Given the description of an element on the screen output the (x, y) to click on. 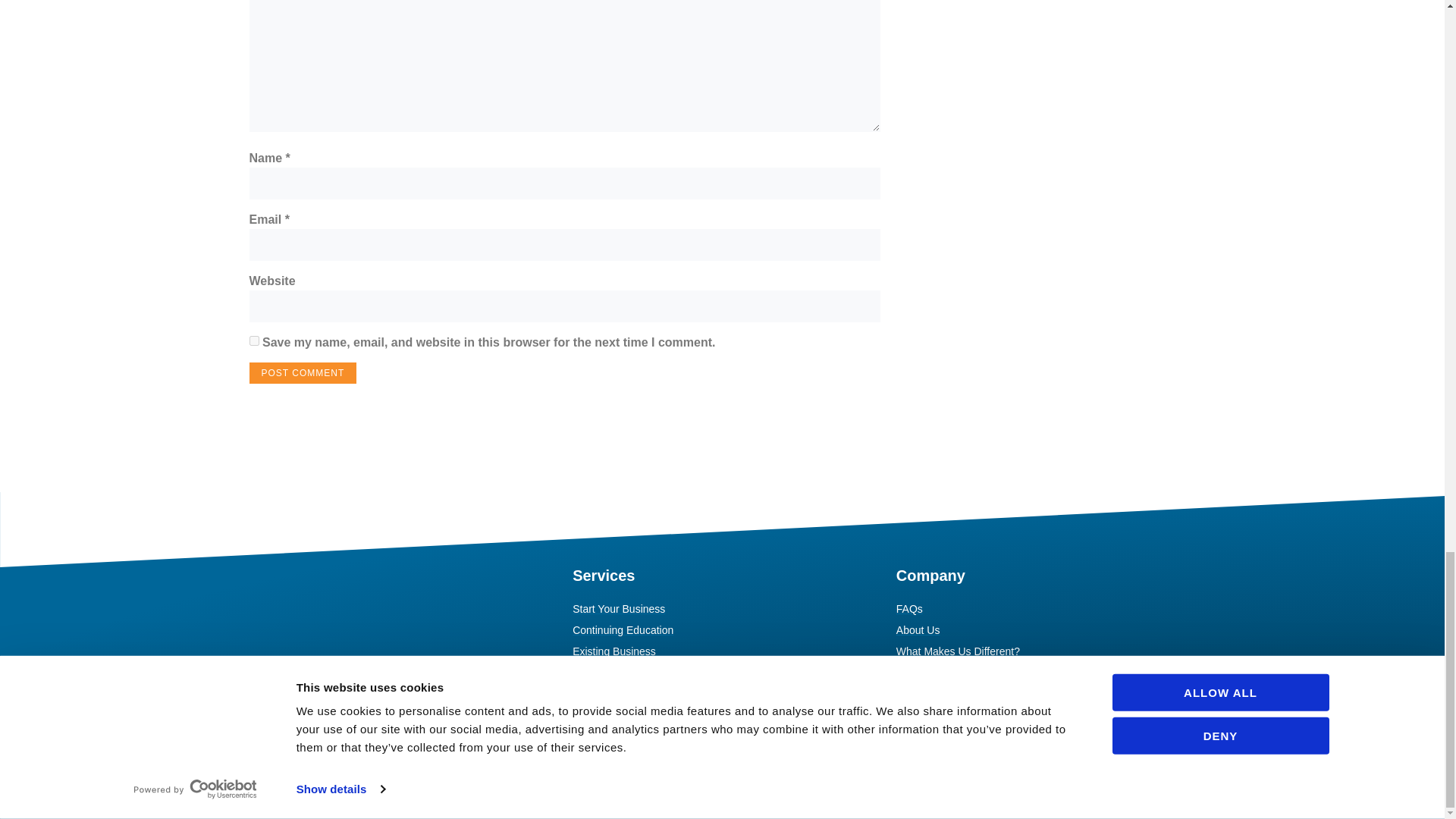
Post Comment (302, 373)
yes (253, 340)
